Given the description of an element on the screen output the (x, y) to click on. 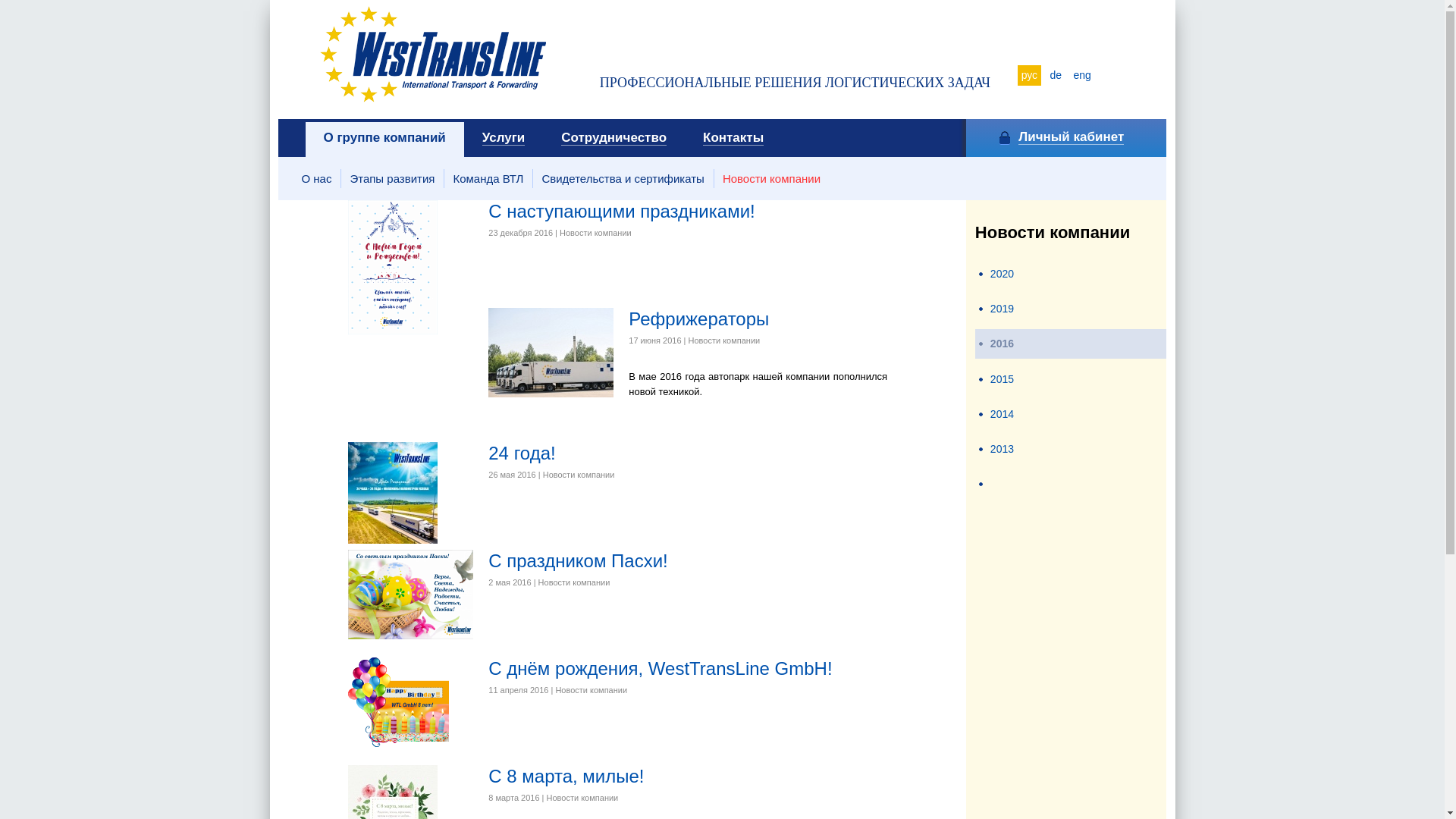
de Element type: text (1055, 75)
2020 Element type: text (1001, 273)
eng Element type: text (1082, 75)
2014 Element type: text (1001, 413)
2015 Element type: text (1001, 379)
2013 Element type: text (1001, 448)
2019 Element type: text (1001, 308)
